Given the description of an element on the screen output the (x, y) to click on. 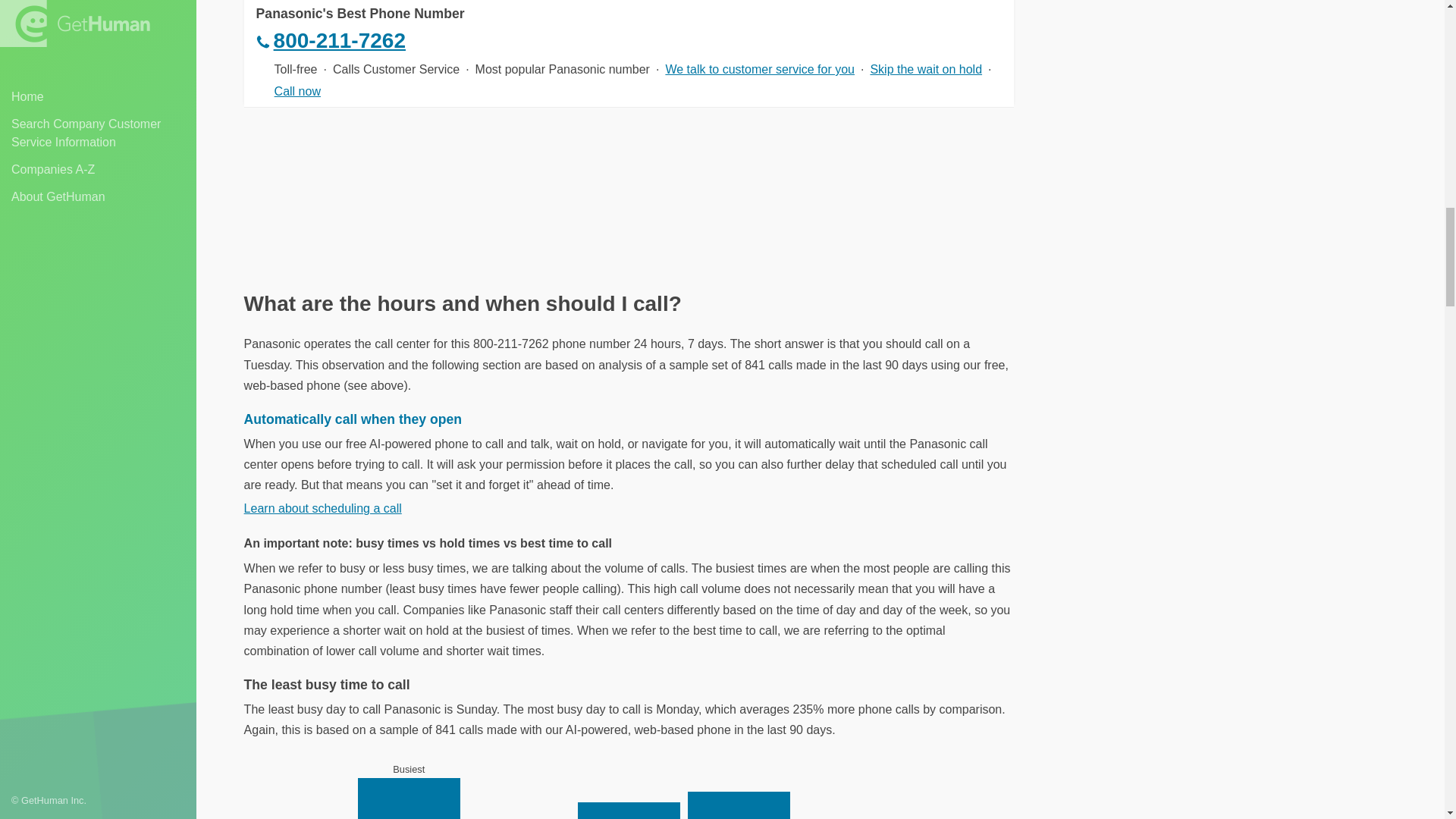
Monday is the busiest day (409, 789)
Automatically call when they open (352, 418)
Learn about scheduling a call (322, 508)
